Given the description of an element on the screen output the (x, y) to click on. 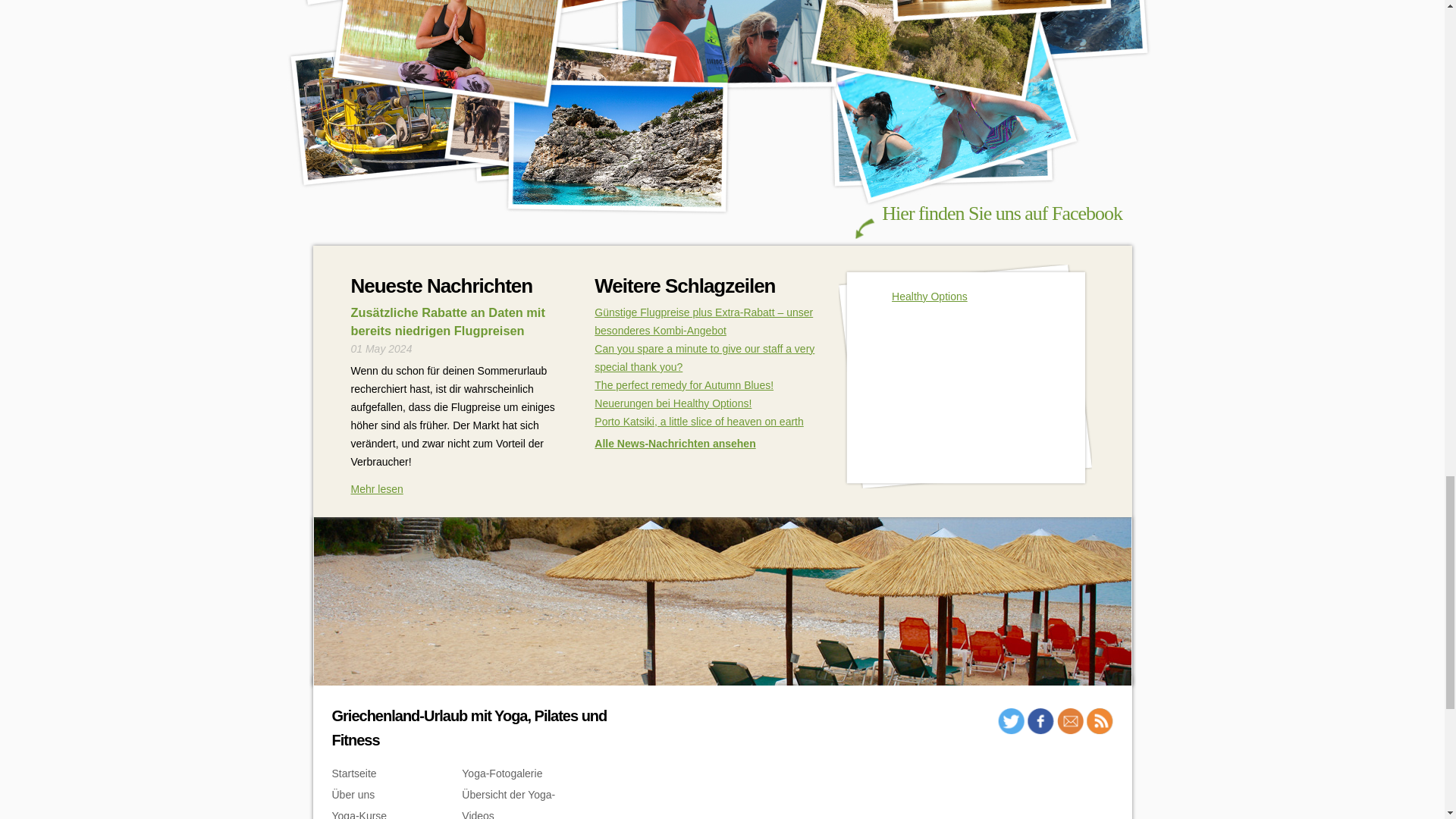
Neuerungen bei Healthy Options! (672, 403)
The perfect remedy for Autumn Blues! (683, 385)
Mehr lesen (376, 489)
